Given the description of an element on the screen output the (x, y) to click on. 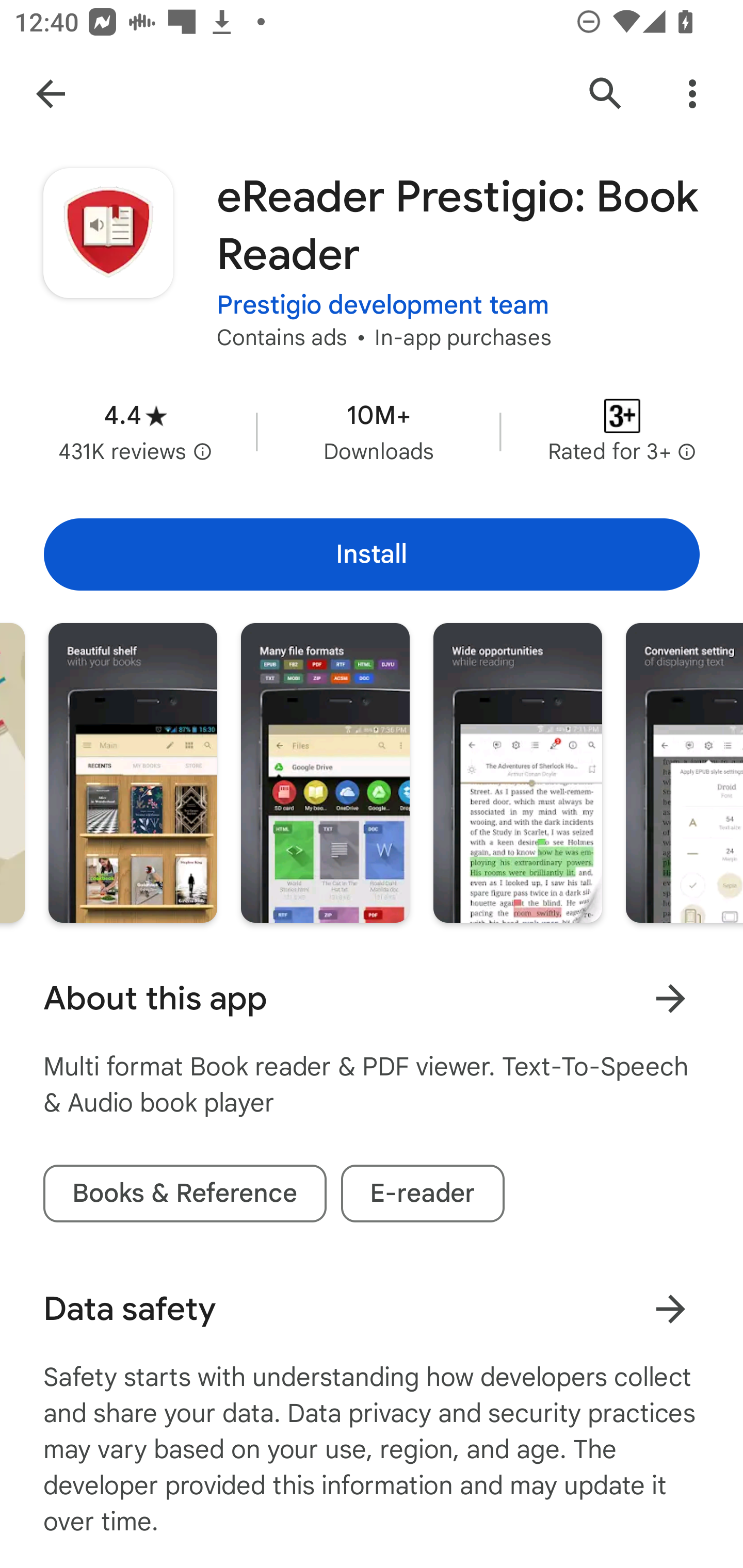
Navigate up (50, 93)
Search Google Play (605, 93)
More Options (692, 93)
Prestigio development team (382, 304)
Average rating 4.4 stars in 431 thousand reviews (135, 431)
Content rating Rated for 3+ (622, 431)
Install (371, 554)
Screenshot "1" of "8" (132, 771)
Screenshot "2" of "8" (324, 771)
Screenshot "3" of "8" (517, 771)
About this app Learn more About this app (371, 998)
Learn more About this app (670, 997)
Books & Reference tag (184, 1193)
E-reader tag (422, 1193)
Data safety Learn more about data safety (371, 1309)
Learn more about data safety (670, 1308)
